Given the description of an element on the screen output the (x, y) to click on. 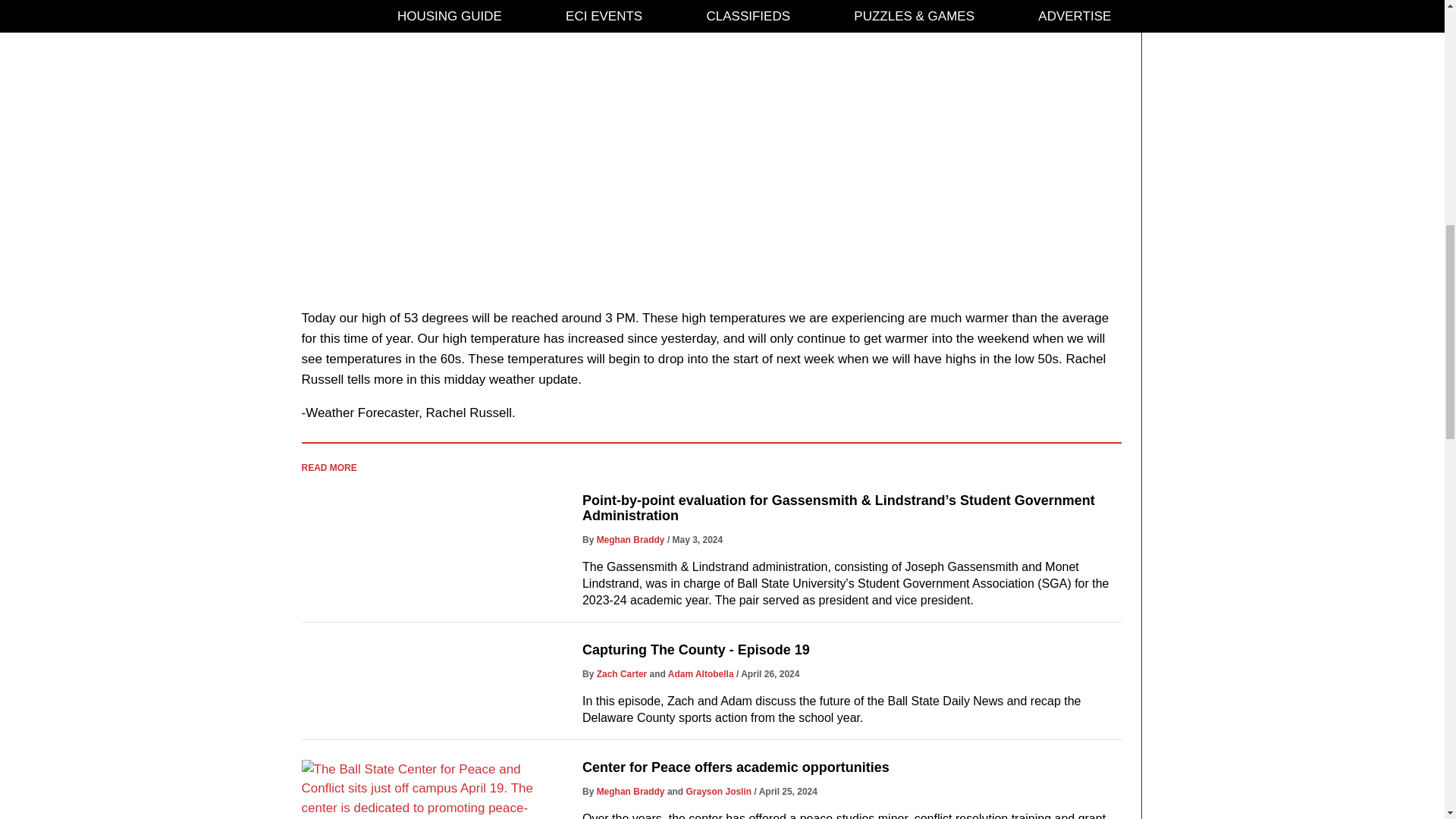
Meghan Braddy (630, 539)
Meghan Braddy (630, 791)
Zach Carter (621, 674)
Capturing The County - Episode 19 (695, 649)
Center for Peace offers academic opportunities (735, 767)
Grayson Joslin (718, 791)
Adam Altobella (700, 674)
